Given the description of an element on the screen output the (x, y) to click on. 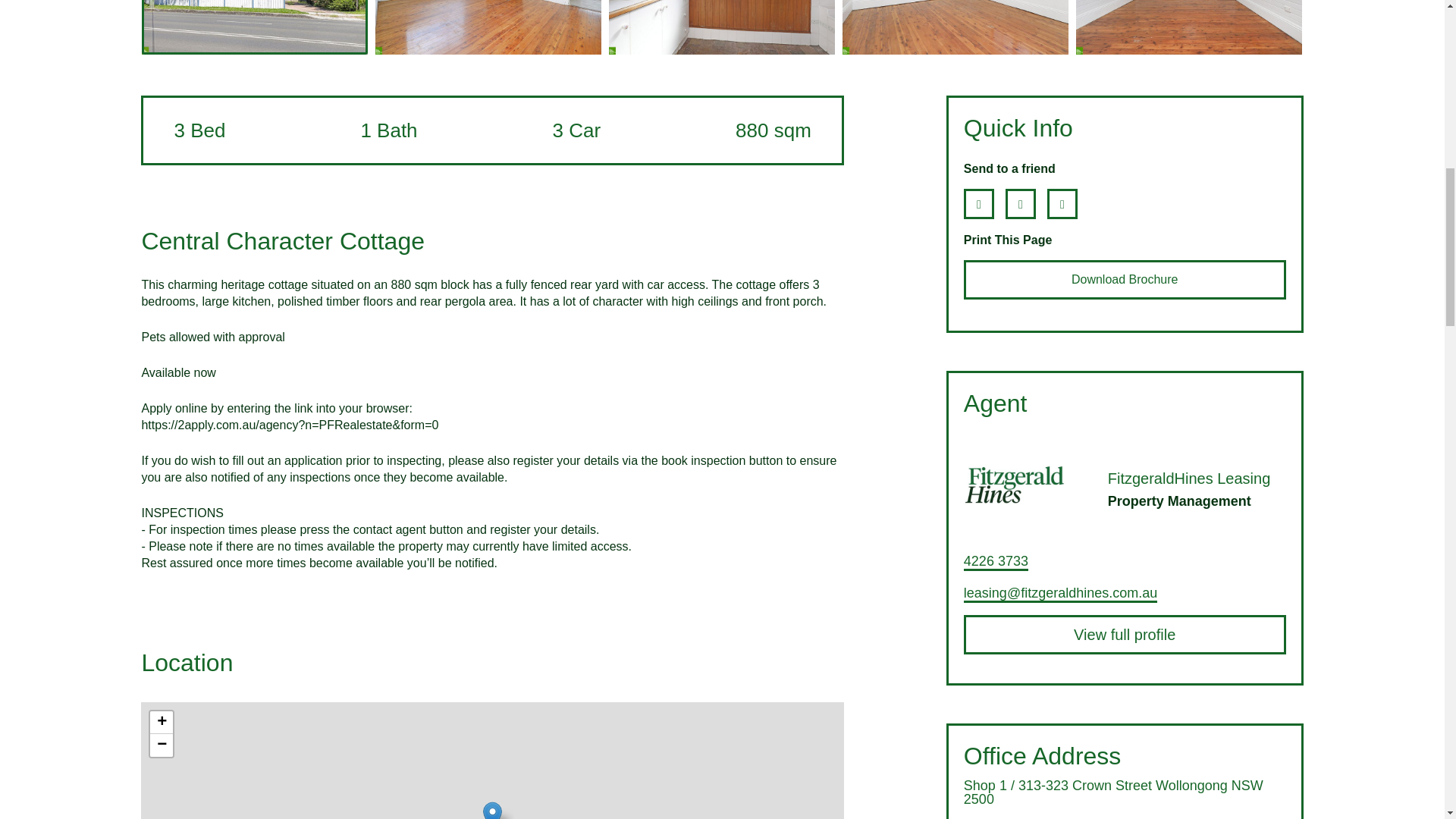
Zoom in (161, 722)
Zoom out (161, 744)
